Given the description of an element on the screen output the (x, y) to click on. 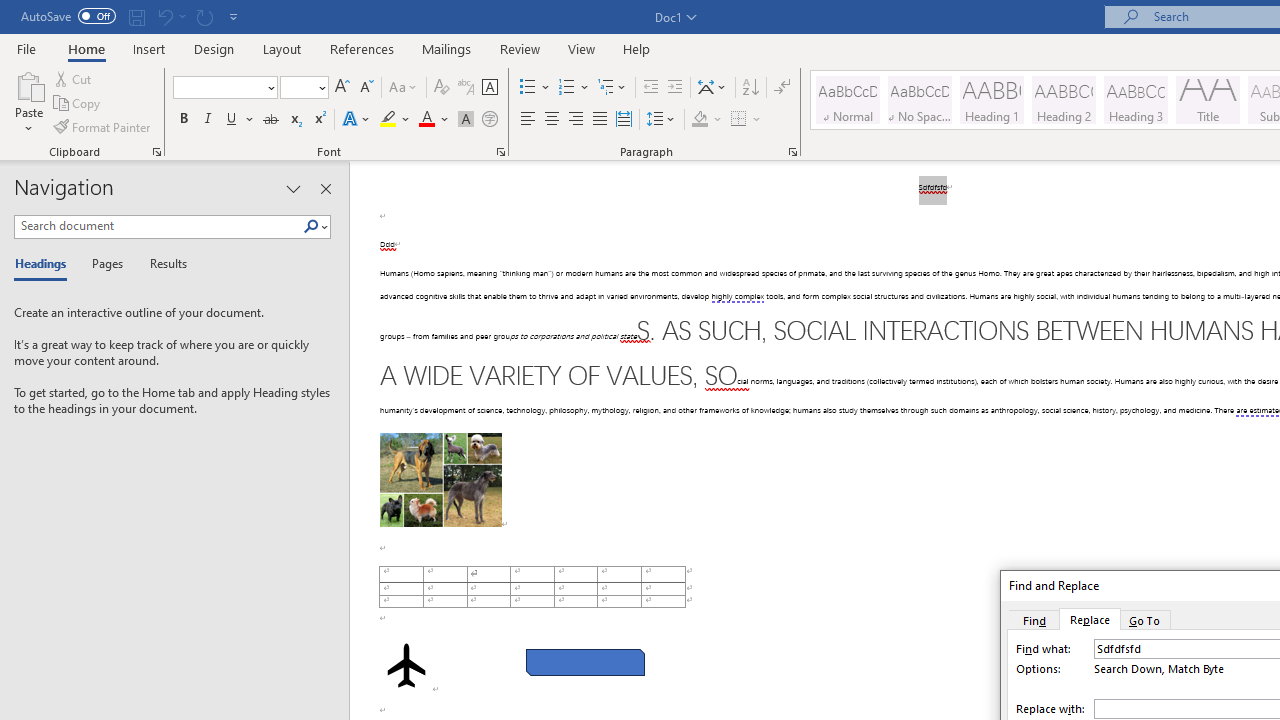
Shading (706, 119)
Change Case (404, 87)
Font Color Red (426, 119)
Cut (73, 78)
Text Effects and Typography (357, 119)
Show/Hide Editing Marks (781, 87)
Font... (500, 151)
